Given the description of an element on the screen output the (x, y) to click on. 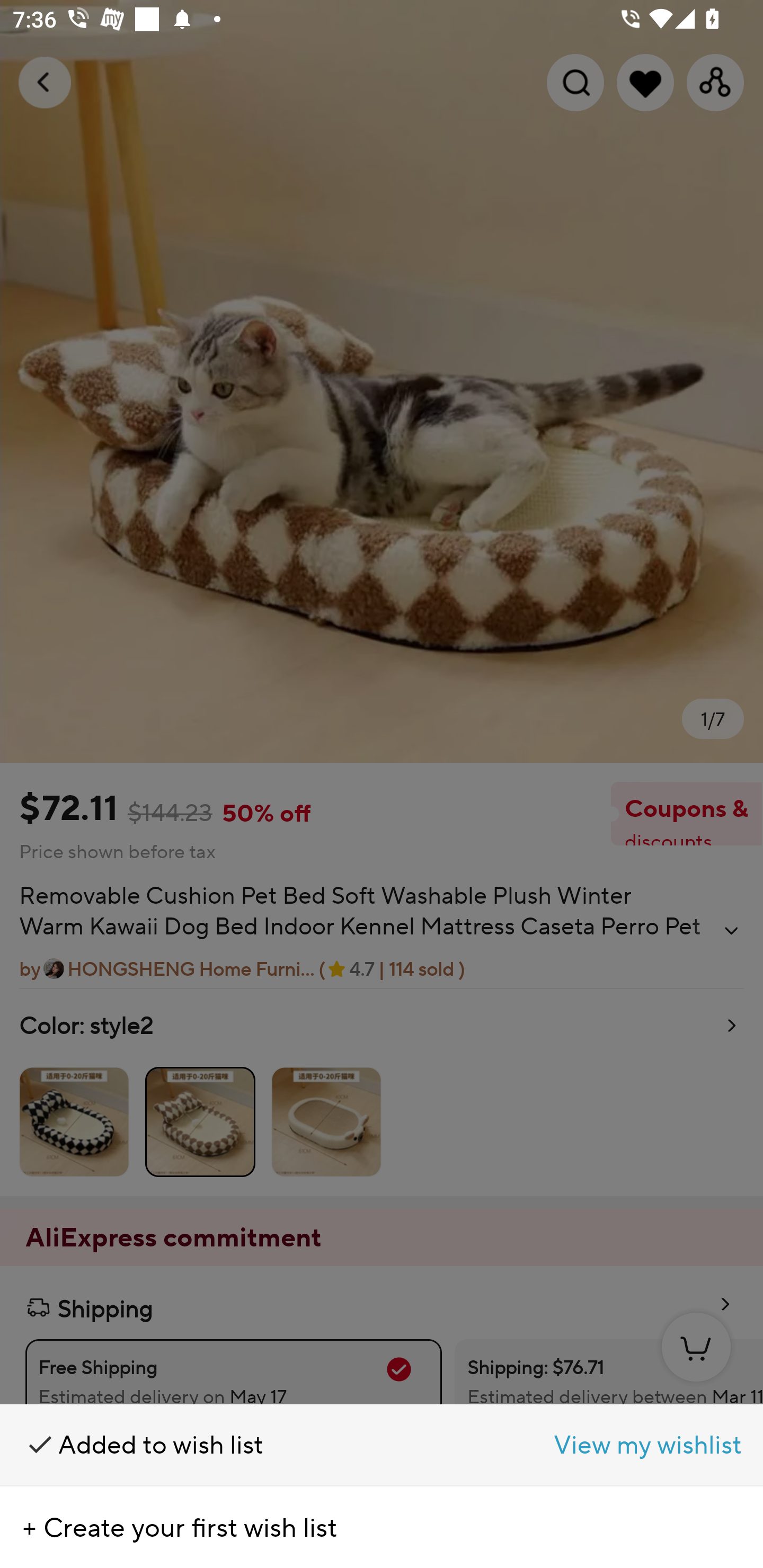
View my wishlist (572, 1444)
+ Create your first wish list (381, 1527)
